Given the description of an element on the screen output the (x, y) to click on. 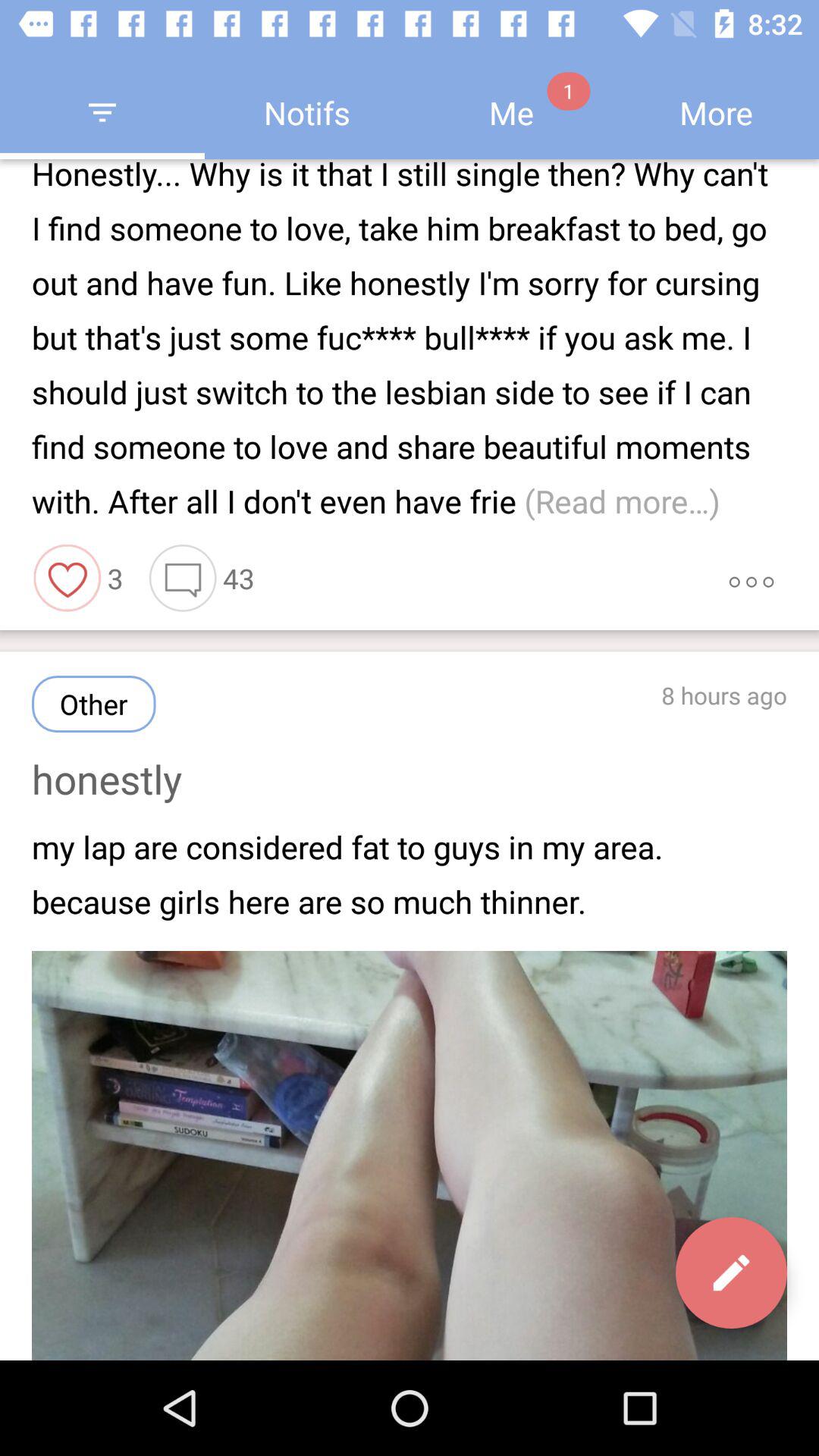
select item below honestly why is icon (182, 578)
